Given the description of an element on the screen output the (x, y) to click on. 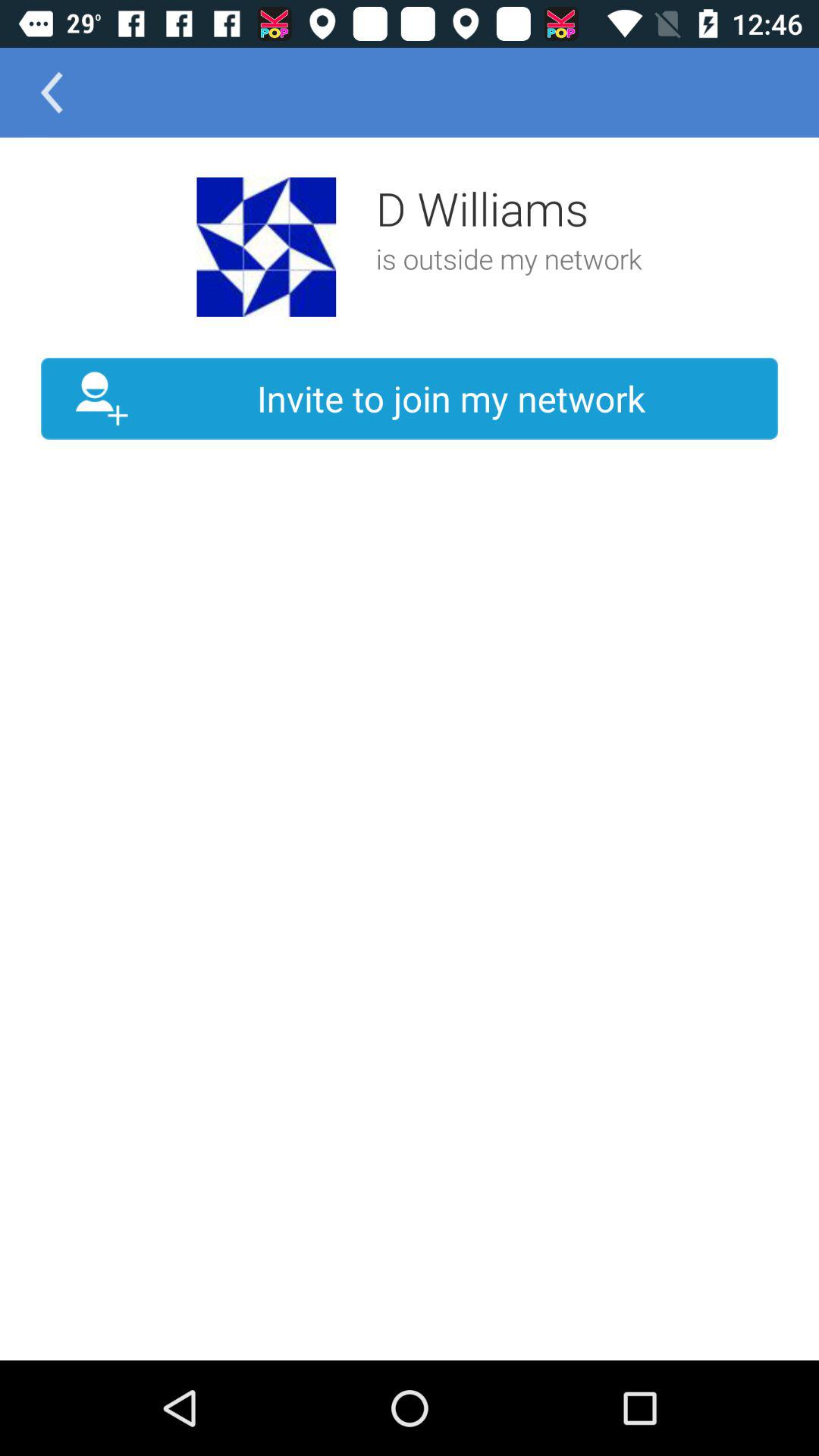
click the icon to the left of the d williams icon (266, 246)
